Given the description of an element on the screen output the (x, y) to click on. 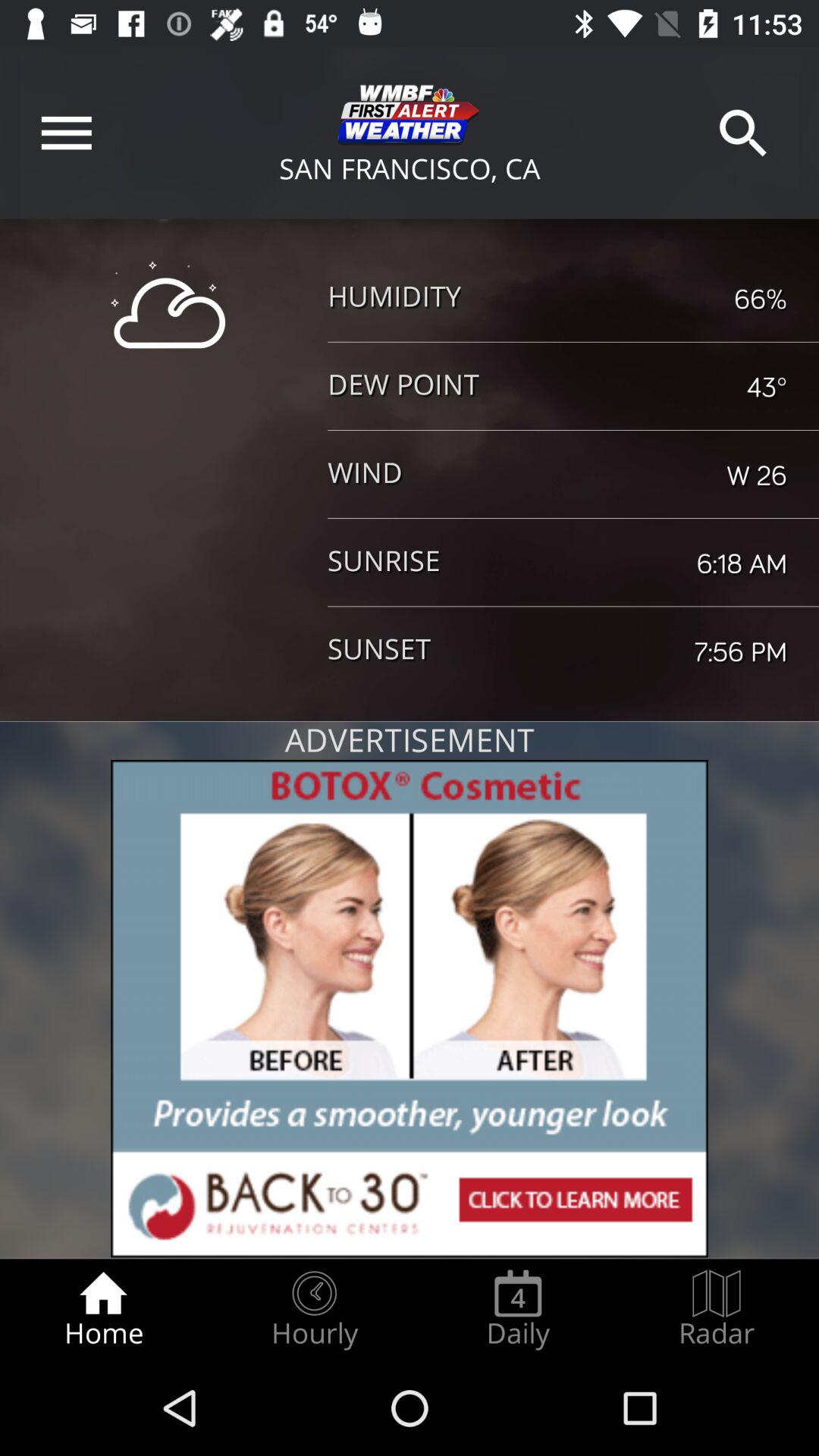
tap the item next to daily icon (314, 1309)
